Given the description of an element on the screen output the (x, y) to click on. 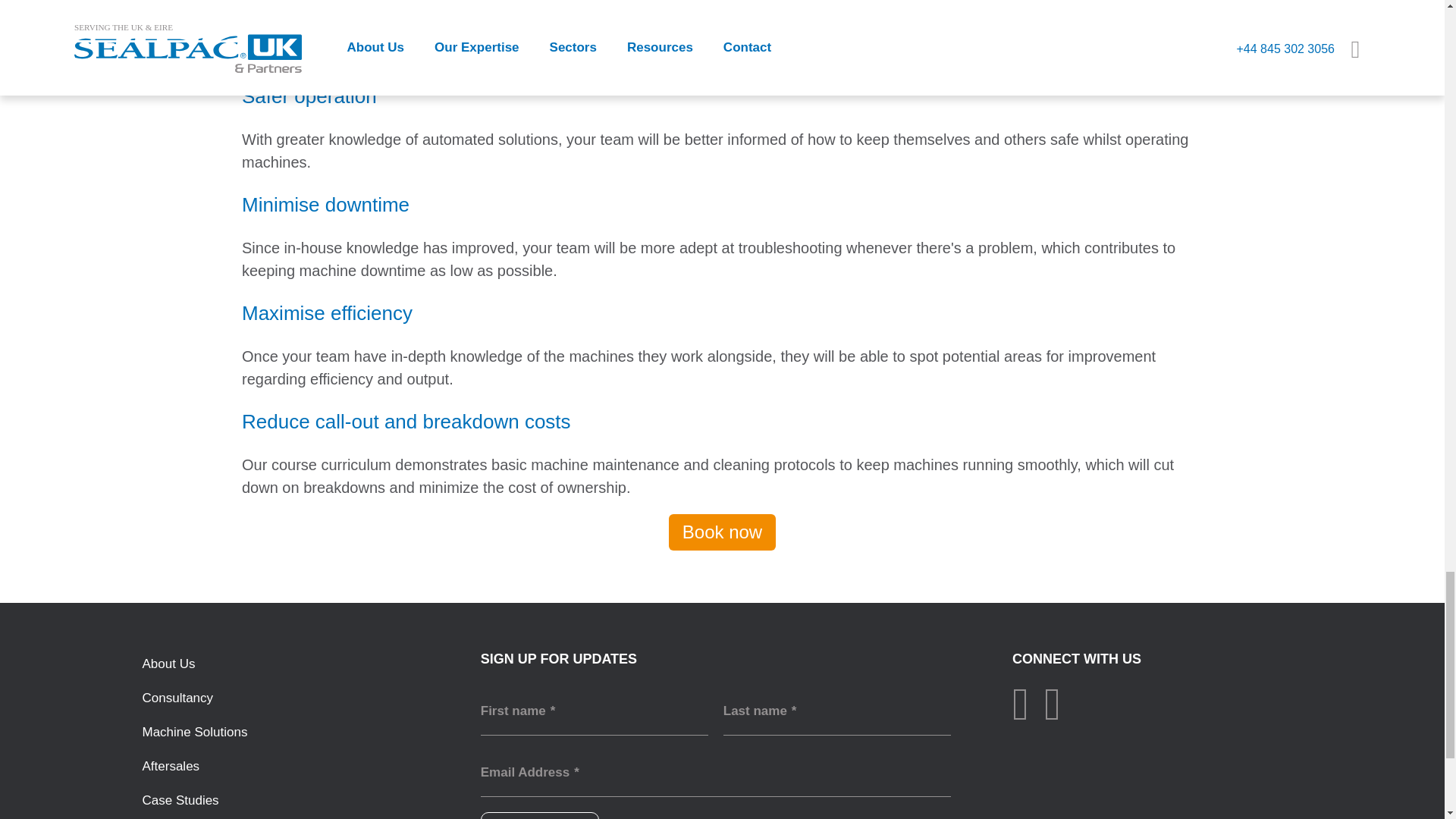
Book now (722, 532)
Get in touch (539, 815)
